Given the description of an element on the screen output the (x, y) to click on. 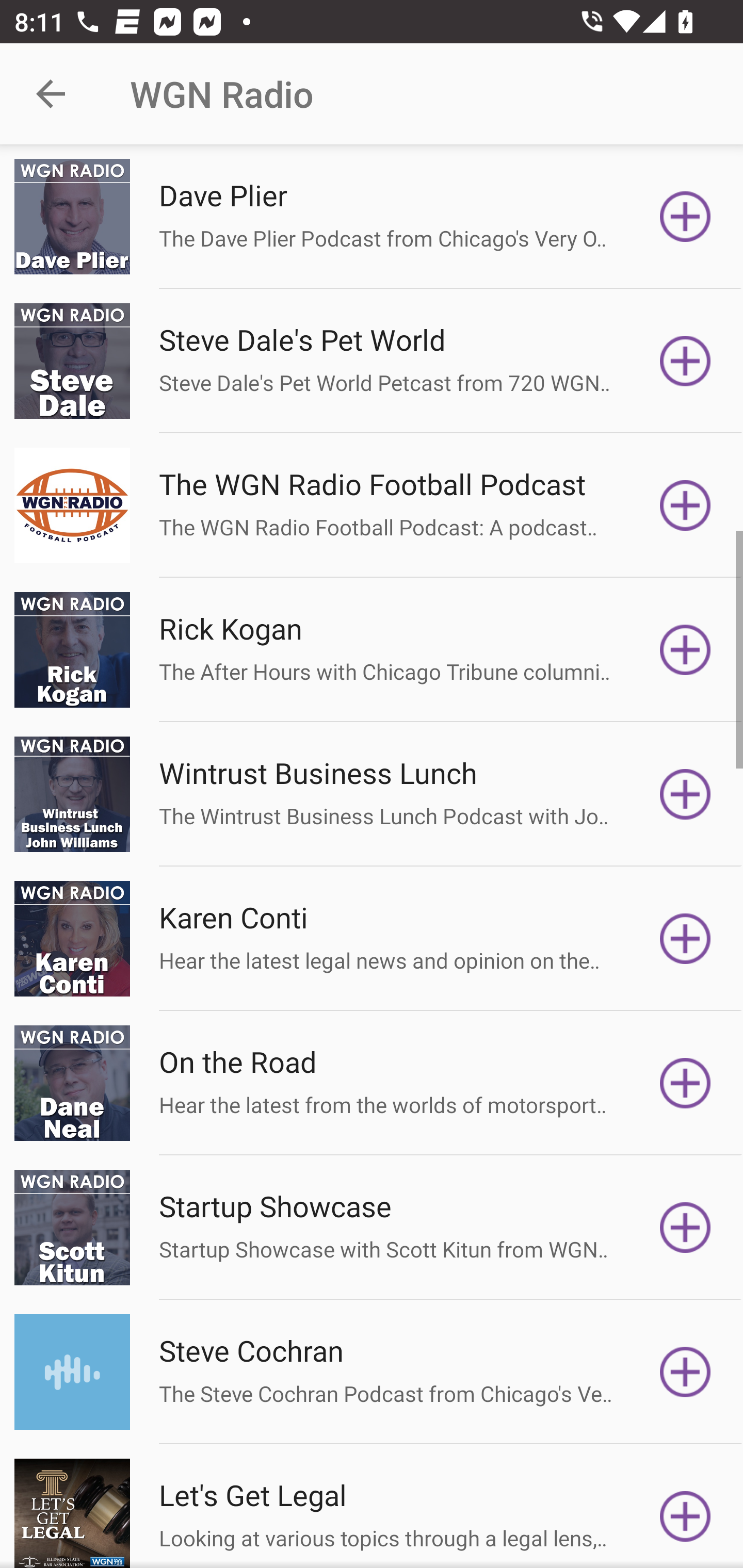
Navigate up (50, 93)
Subscribe (685, 216)
Subscribe (685, 360)
Subscribe (685, 505)
Subscribe (685, 649)
Subscribe (685, 793)
Subscribe (685, 939)
Subscribe (685, 1083)
Subscribe (685, 1227)
Subscribe (685, 1371)
Subscribe (685, 1513)
